Given the description of an element on the screen output the (x, y) to click on. 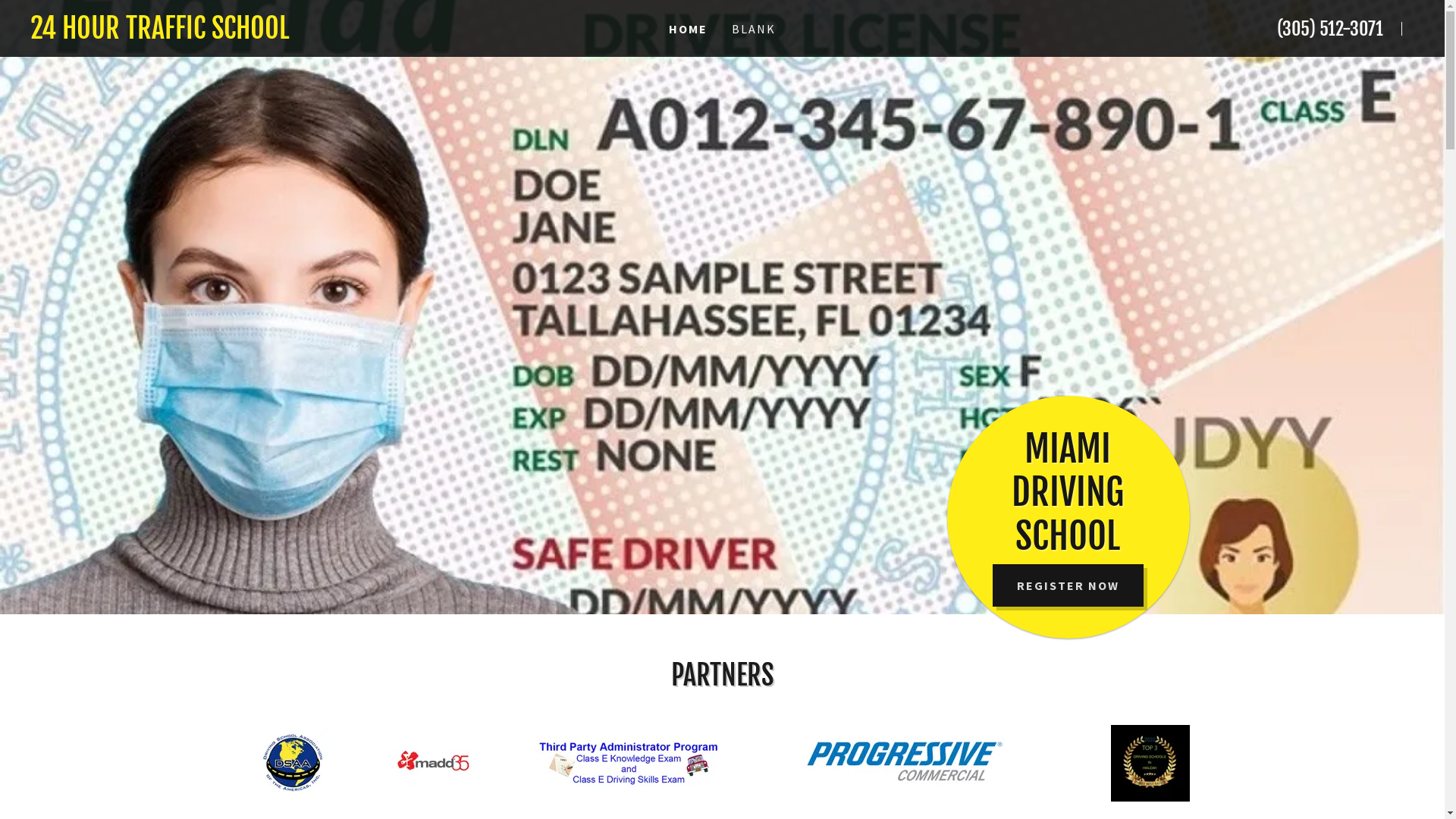
REGISTER NOW Element type: text (1067, 585)
24 HOUR TRAFFIC SCHOOL Element type: text (237, 33)
HOME Element type: text (687, 28)
(305) 512-3071 Element type: text (1330, 28)
BLANK Element type: text (753, 28)
